Given the description of an element on the screen output the (x, y) to click on. 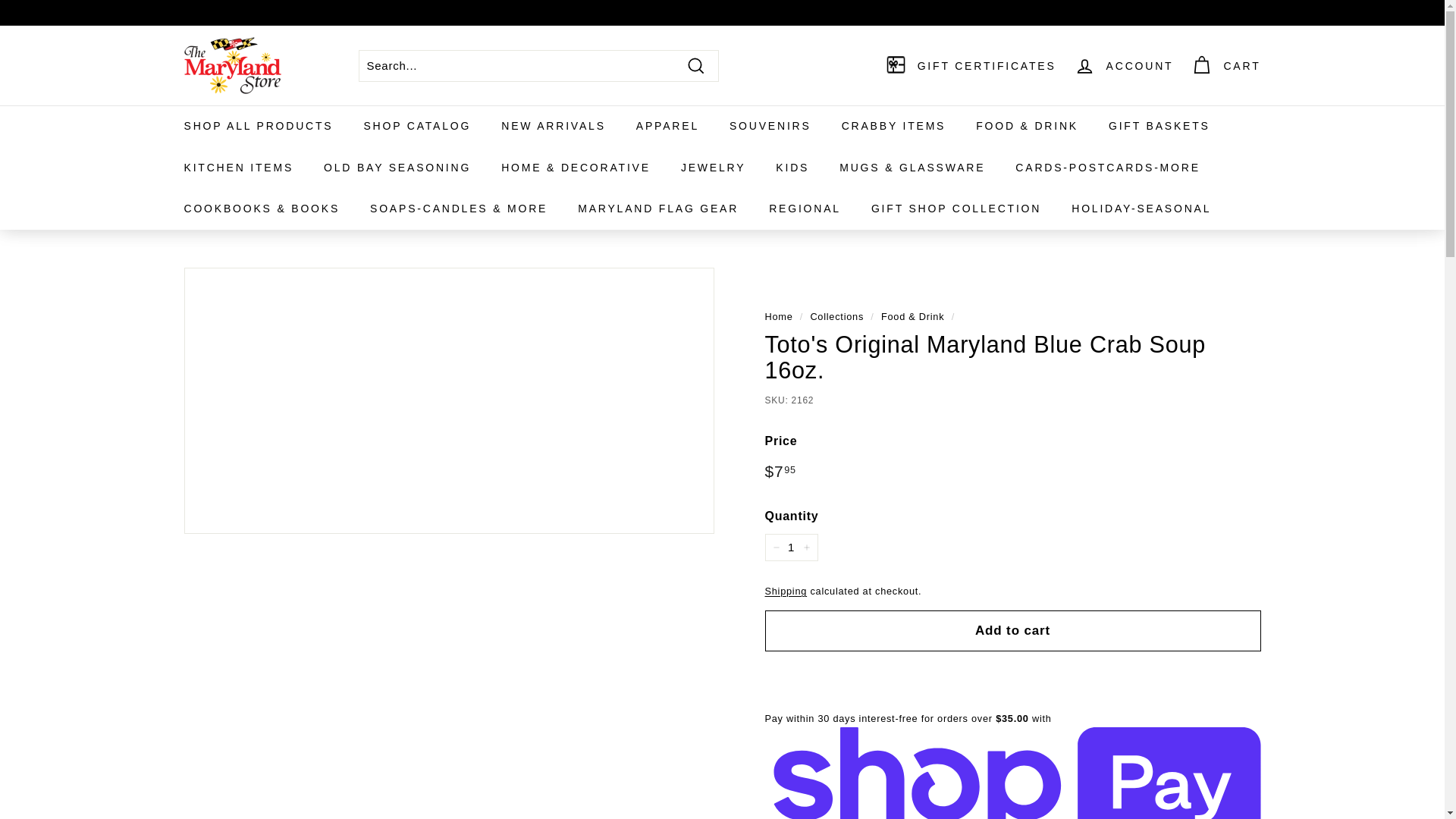
SHOP ALL PRODUCTS (257, 125)
CRABBY ITEMS (893, 125)
NEW ARRIVALS (553, 125)
SHOP CATALOG (416, 125)
GIFT CERTIFICATES (970, 65)
APPAREL (667, 125)
1 (790, 547)
Back to the frontpage (778, 316)
ACCOUNT (1123, 65)
